Given the description of an element on the screen output the (x, y) to click on. 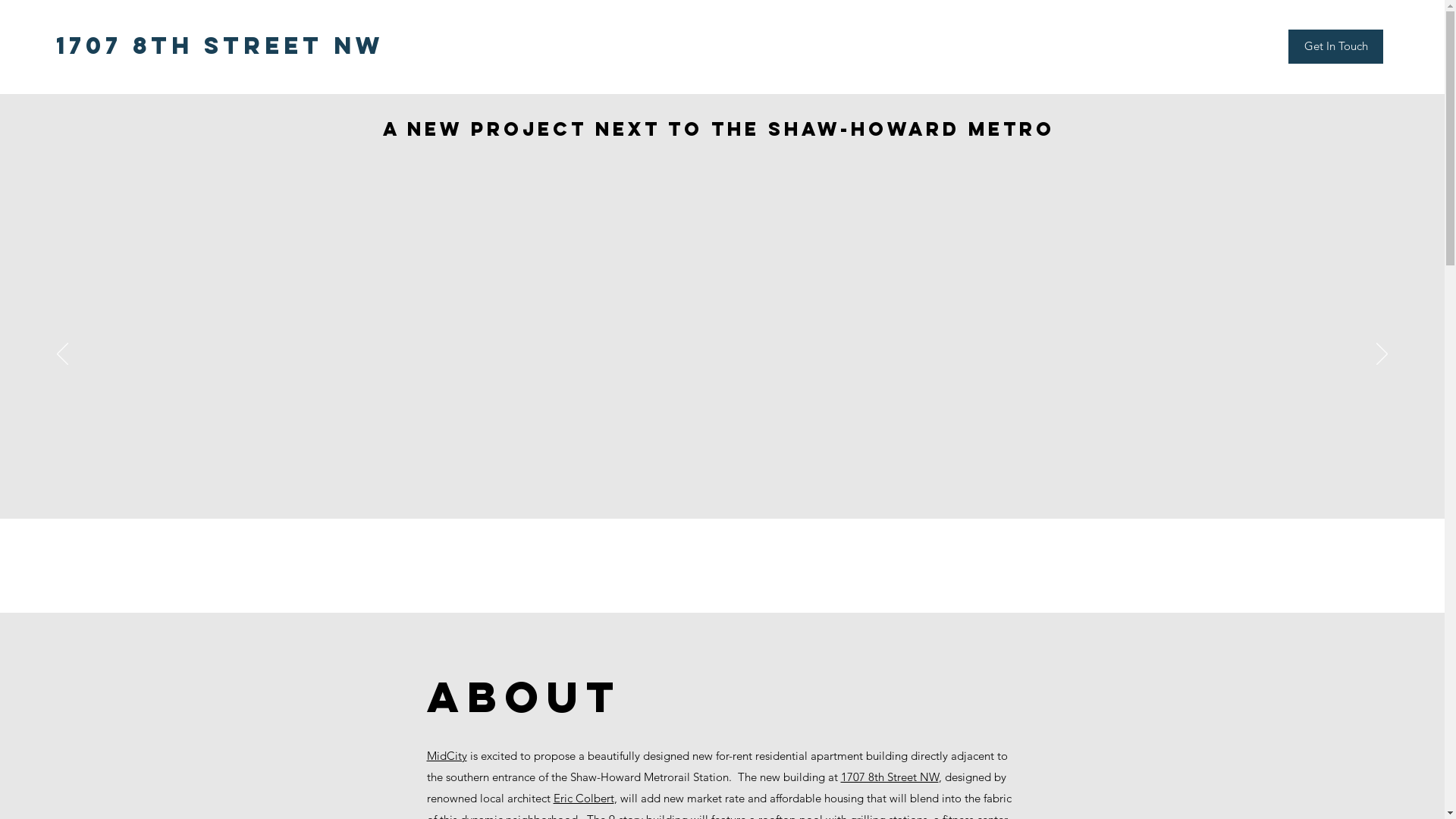
Get In Touch Element type: text (1335, 46)
1707 8th Street NW Element type: text (889, 776)
Eric Colbert Element type: text (583, 797)
MidCity Element type: text (446, 755)
